Given the description of an element on the screen output the (x, y) to click on. 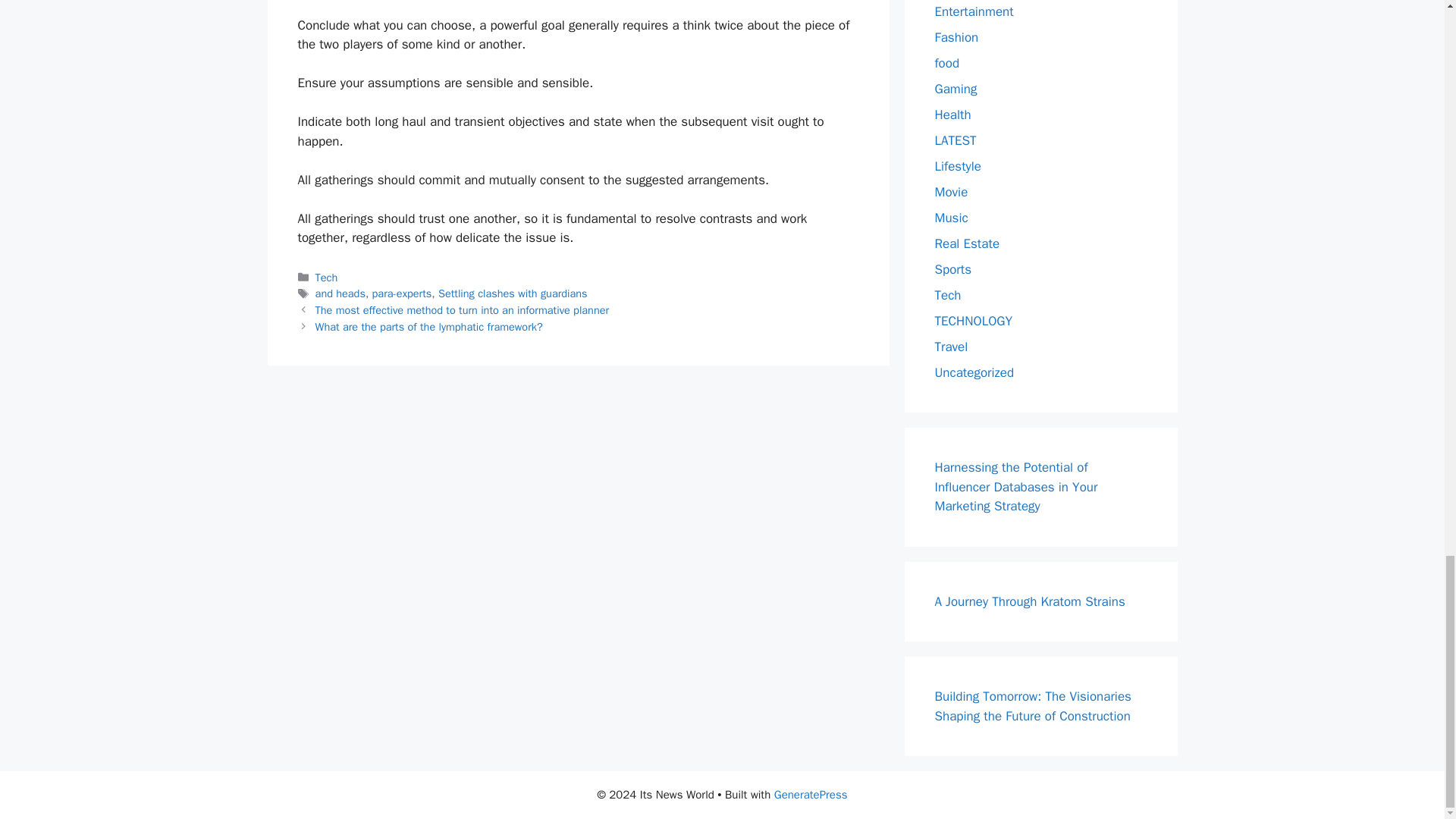
and heads (340, 293)
para-experts (402, 293)
Settling clashes with guardians (513, 293)
What are the parts of the lymphatic framework? (429, 326)
Tech (326, 277)
